Given the description of an element on the screen output the (x, y) to click on. 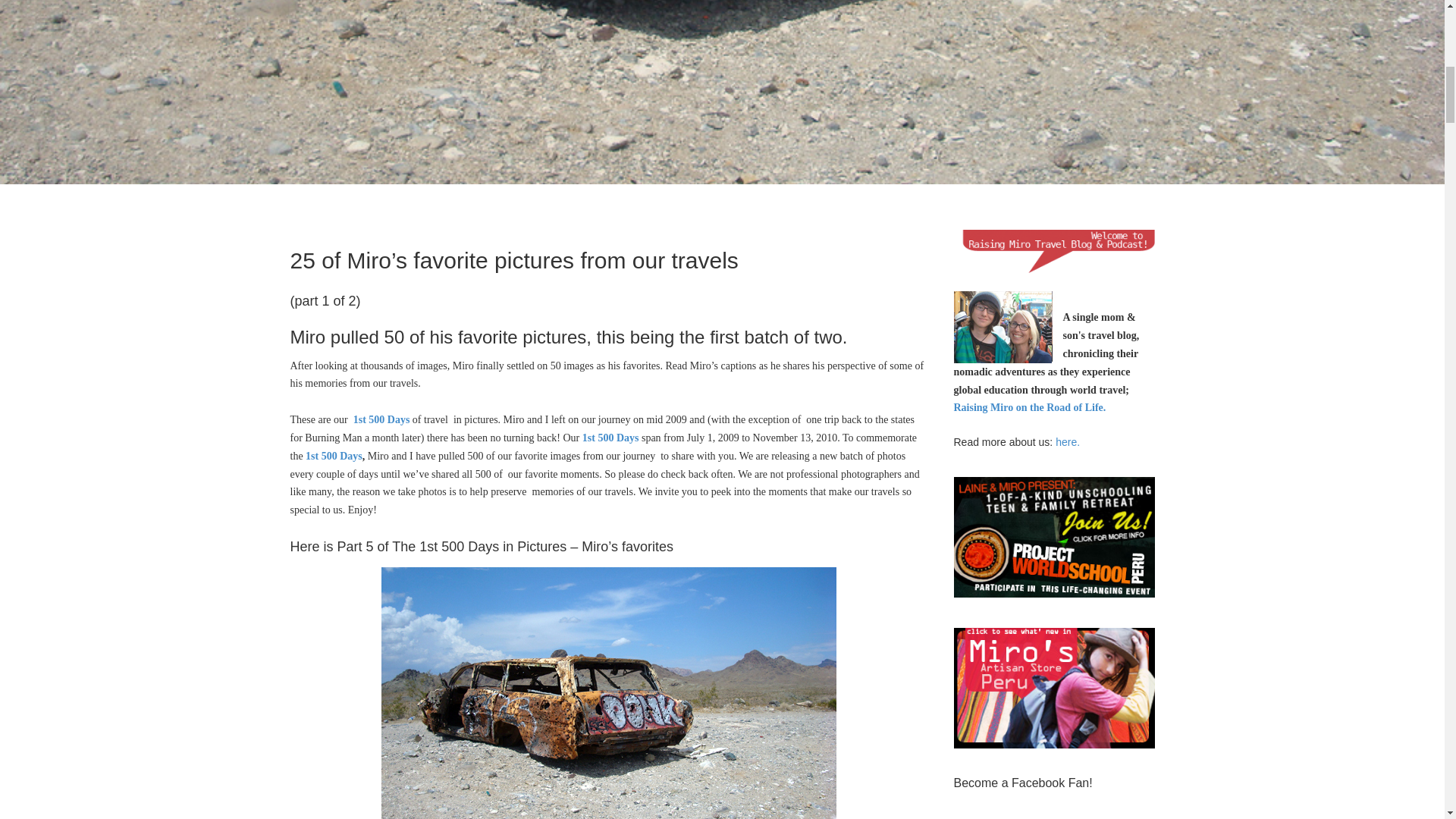
1st 500 Days (381, 419)
1st 500 Days (333, 455)
1st 500 Days (610, 437)
